Given the description of an element on the screen output the (x, y) to click on. 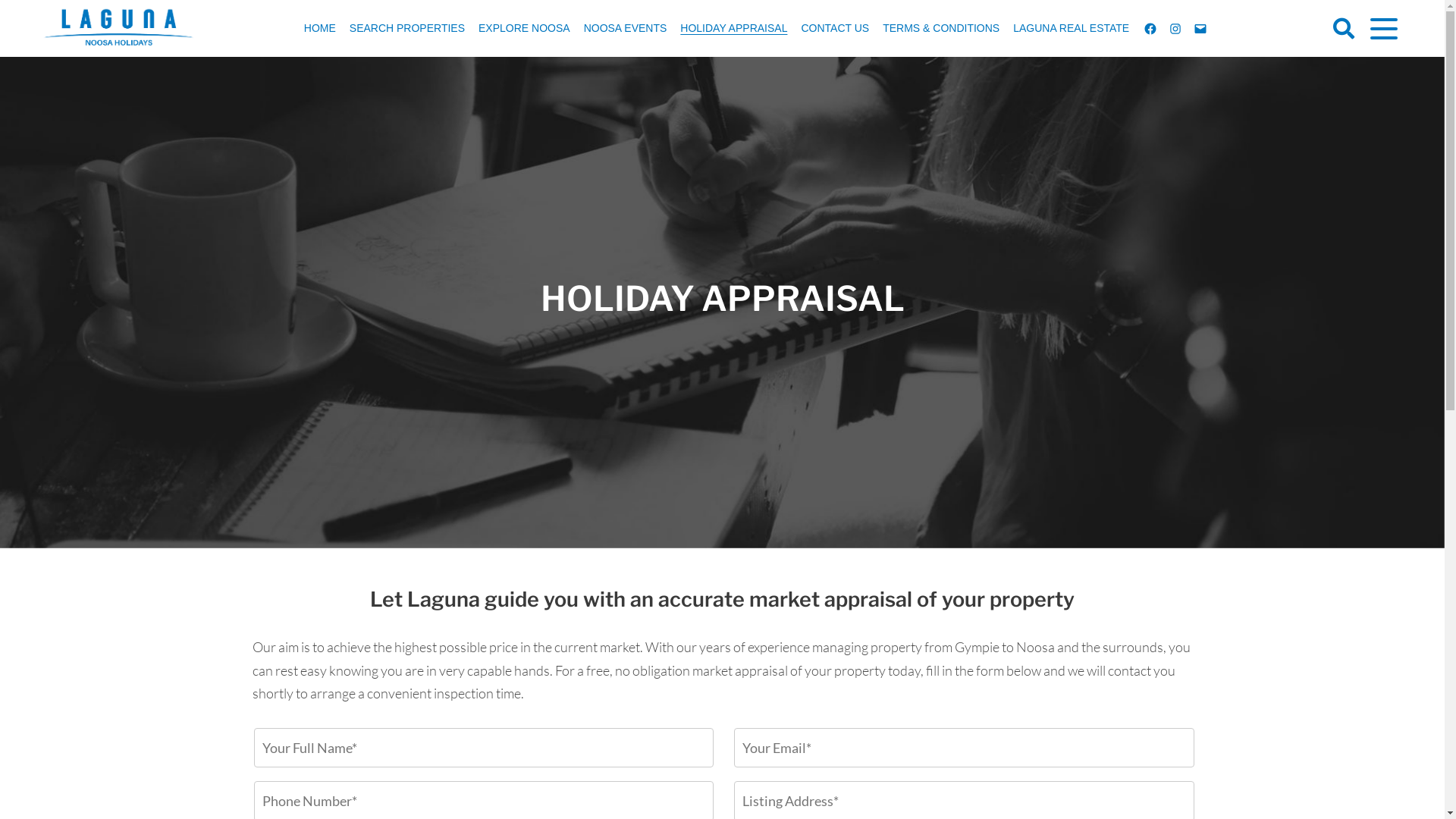
FACEBOOK Element type: text (1150, 27)
LAGUNA REAL ESTATE Element type: text (1070, 27)
INSTAGRAM Element type: text (1175, 27)
EXPLORE NOOSA Element type: text (524, 27)
SEARCH PROPERTIES Element type: text (406, 27)
NOOSA EVENTS Element type: text (625, 27)
CONTACT US Element type: text (834, 27)
HOLIDAY APPRAISAL Element type: text (733, 27)
TERMS & CONDITIONS Element type: text (940, 27)
HOME Element type: text (319, 27)
EMAIL Element type: text (1200, 27)
